Given the description of an element on the screen output the (x, y) to click on. 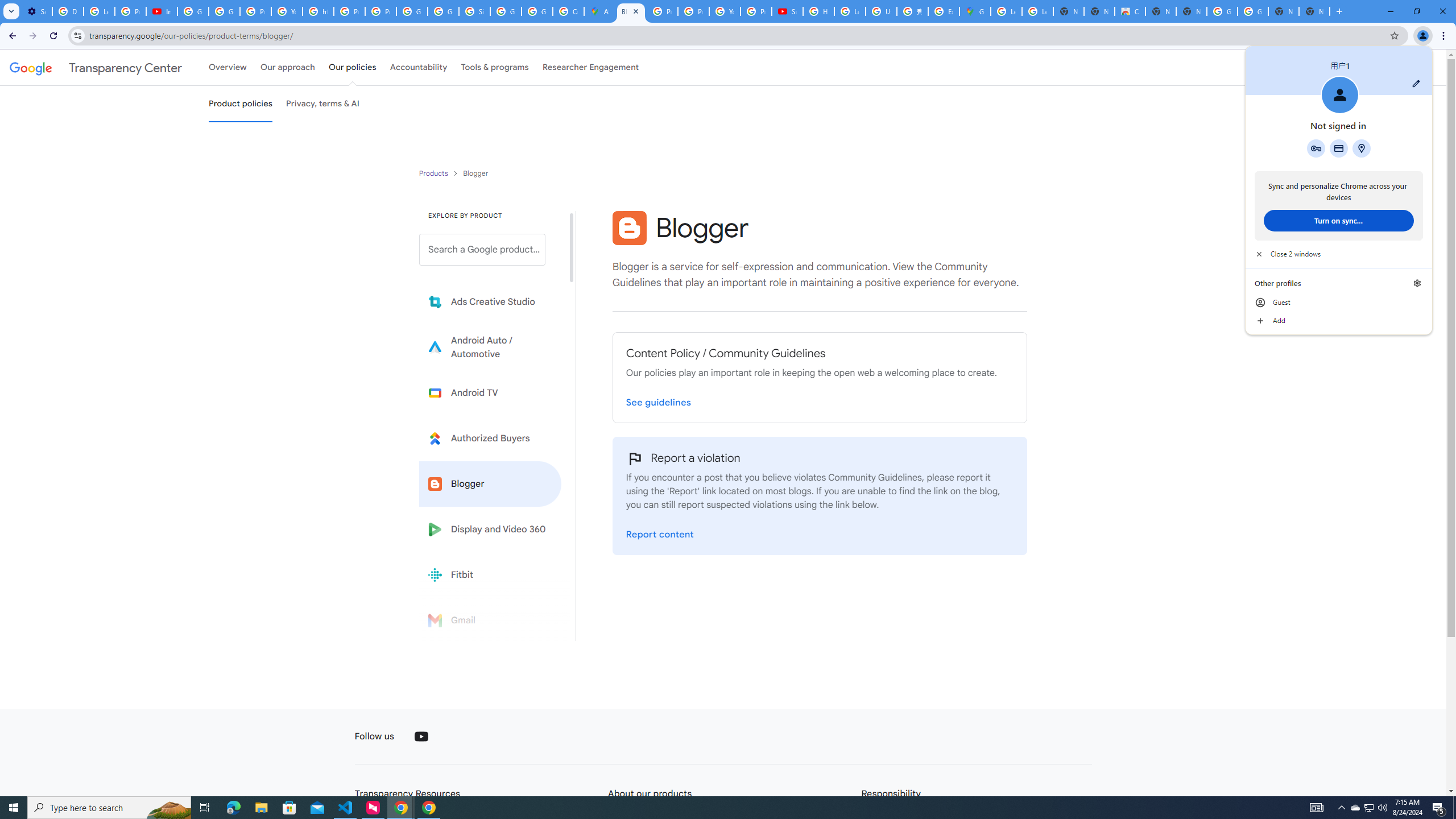
Learn more about Android Auto (490, 347)
Privacy, terms & AI (322, 103)
Learn more about Ads Creative Studio (490, 302)
Microsoft Store (289, 807)
Fitbit (490, 574)
Fitbit (490, 574)
